Given the description of an element on the screen output the (x, y) to click on. 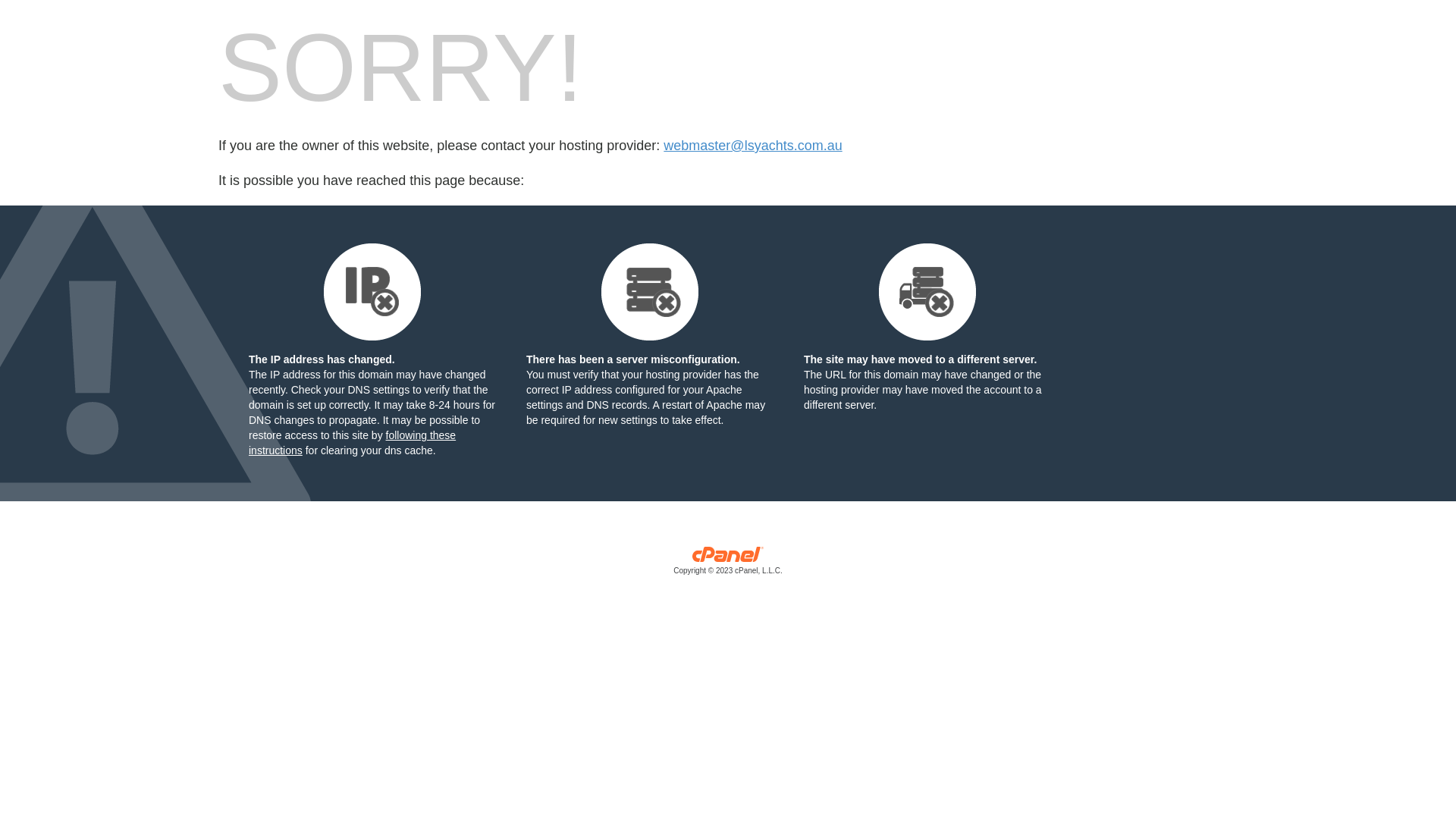
following these instructions Element type: text (351, 442)
webmaster@lsyachts.com.au Element type: text (752, 145)
